Given the description of an element on the screen output the (x, y) to click on. 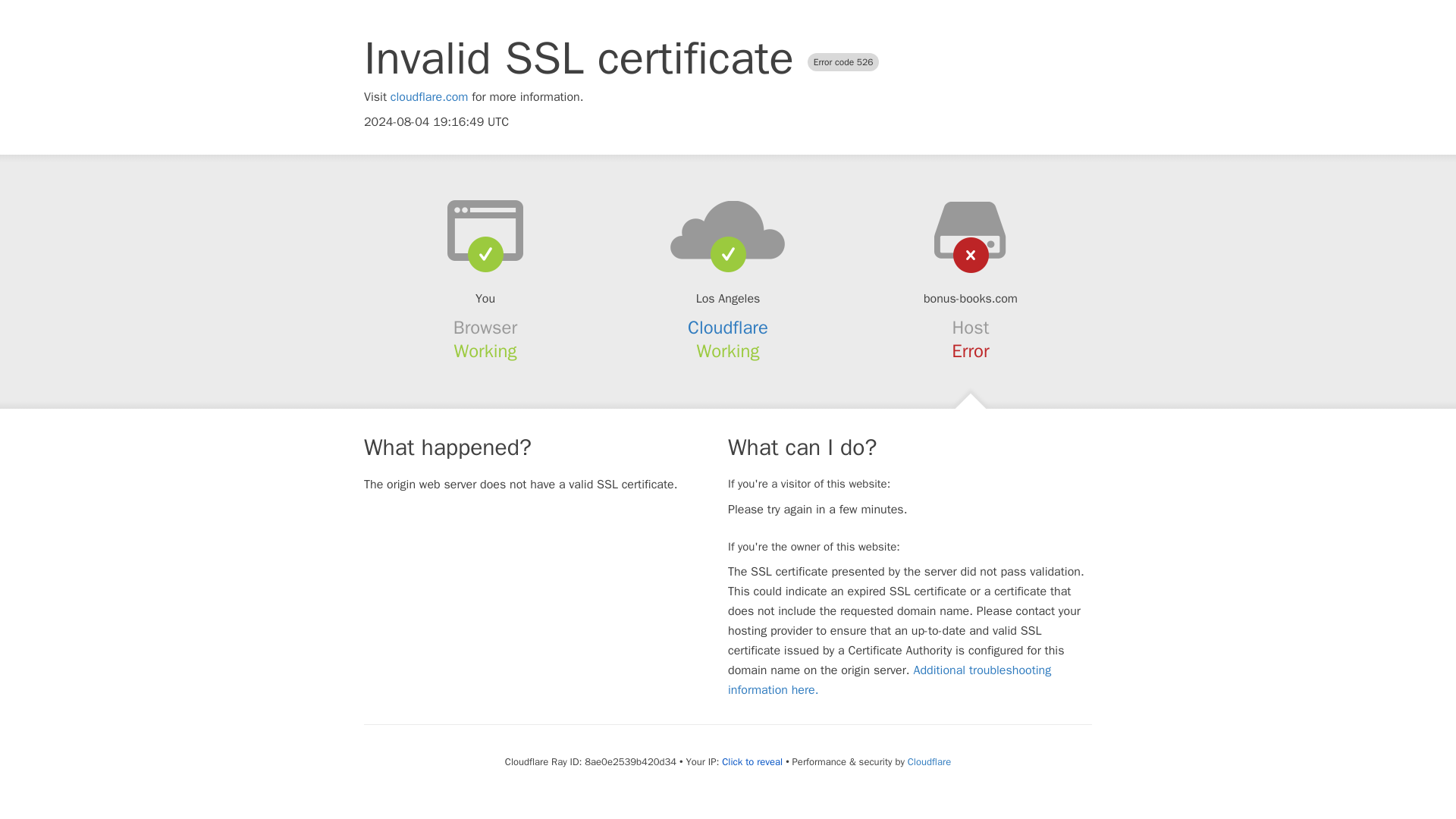
Click to reveal (752, 762)
Additional troubleshooting information here. (889, 679)
Cloudflare (727, 327)
cloudflare.com (429, 96)
Cloudflare (928, 761)
